Given the description of an element on the screen output the (x, y) to click on. 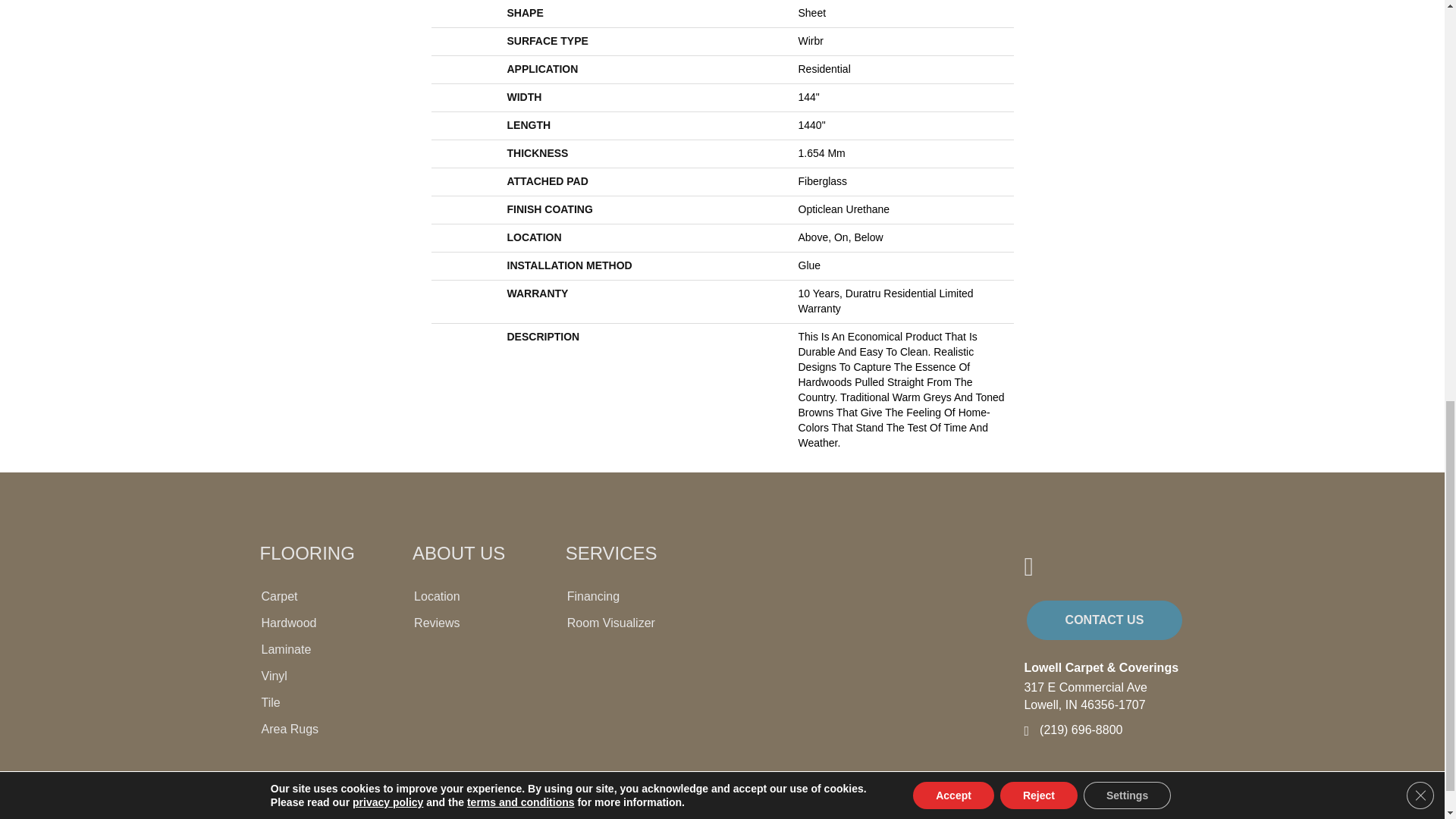
FLOORING (306, 552)
ABOUT US (458, 552)
SERVICES (612, 552)
